Given the description of an element on the screen output the (x, y) to click on. 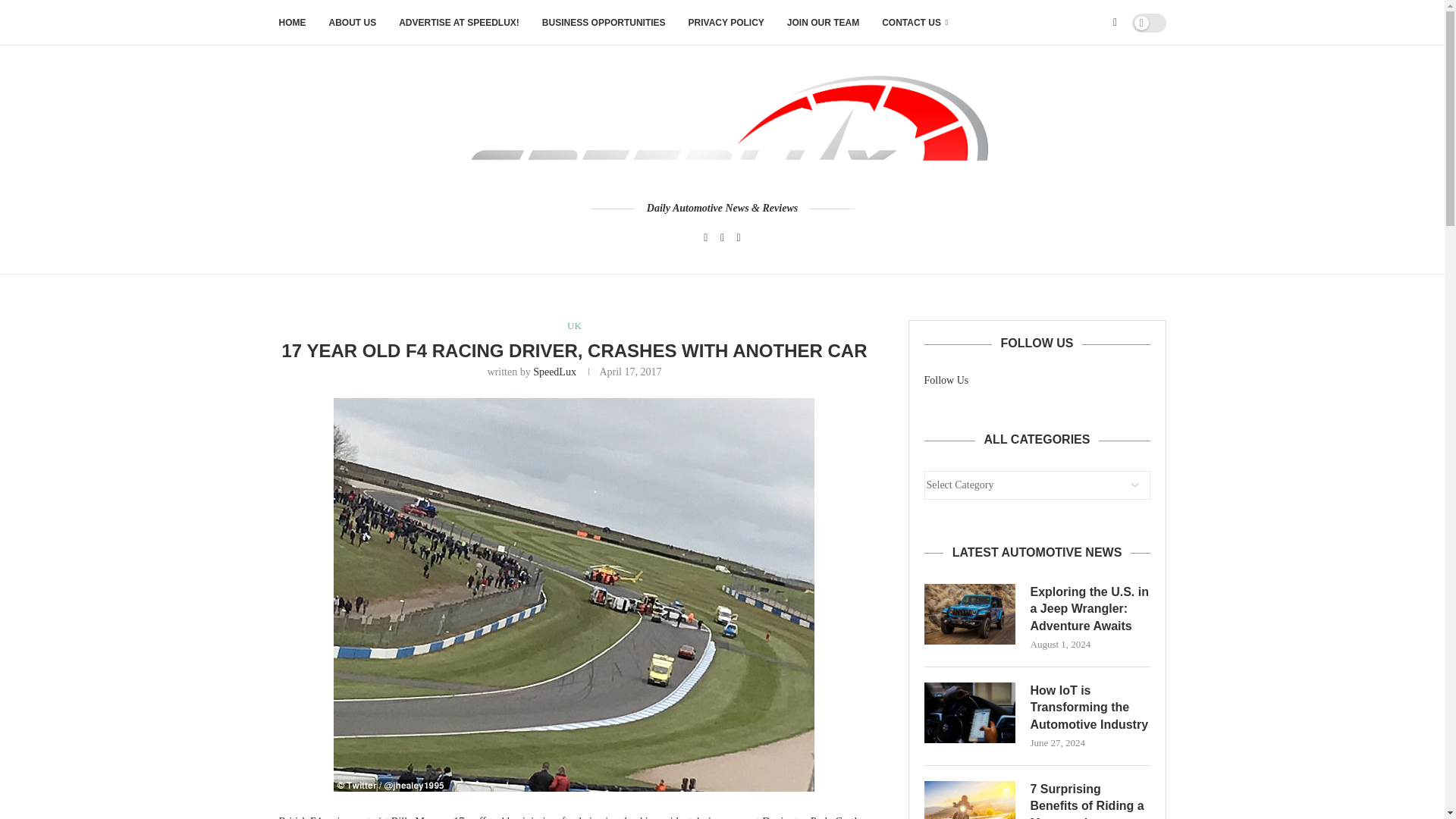
UK (573, 326)
ADVERTISE AT SPEEDLUX! (458, 22)
JOIN OUR TEAM (823, 22)
BUSINESS OPPORTUNITIES (603, 22)
SpeedLux (554, 371)
PRIVACY POLICY (726, 22)
ABOUT US (353, 22)
CONTACT US (915, 22)
